Given the description of an element on the screen output the (x, y) to click on. 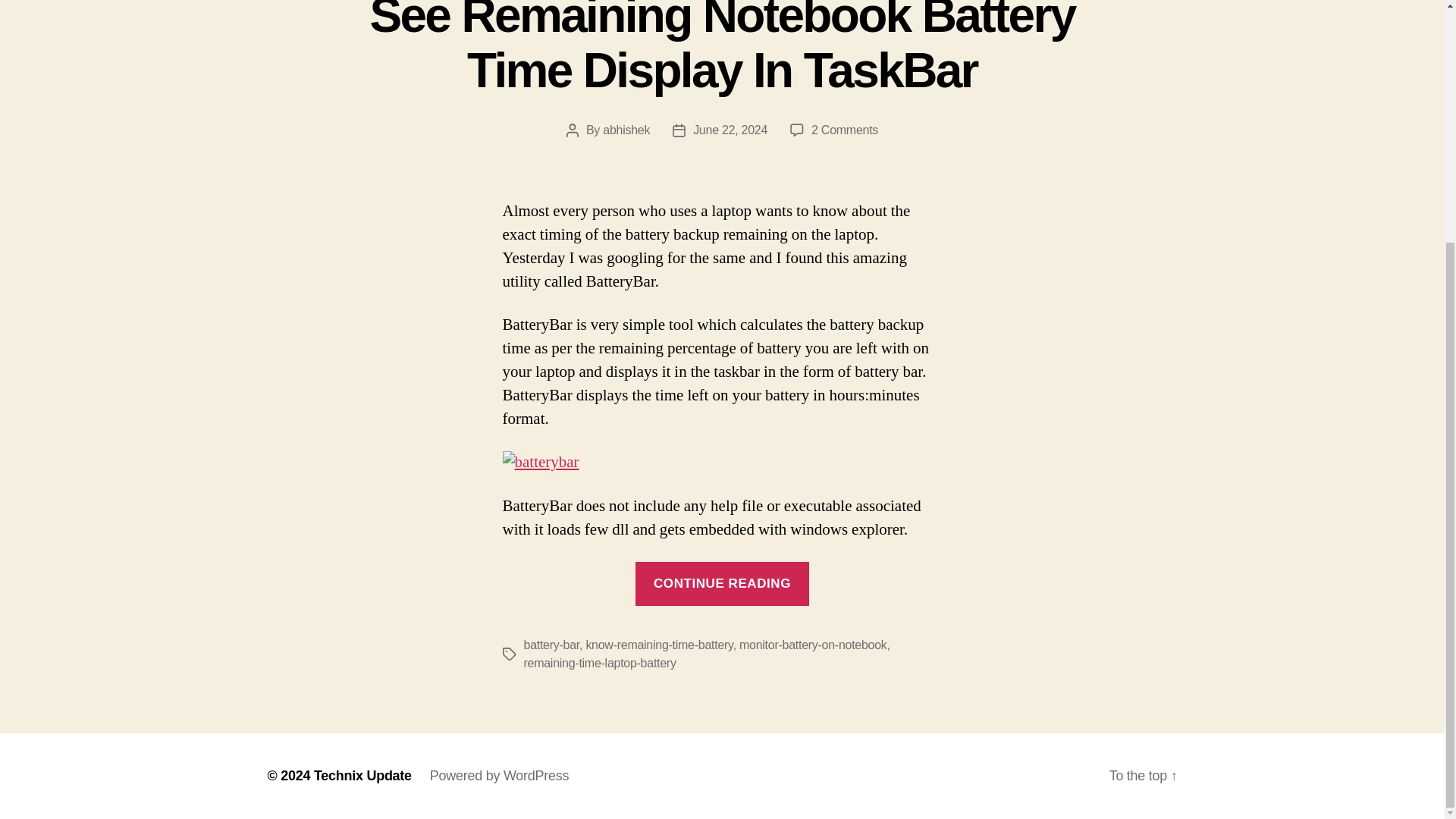
June 22, 2024 (730, 129)
monitor-battery-on-notebook (812, 644)
See Remaining Notebook Battery Time Display In TaskBar (721, 48)
remaining-time-laptop-battery (598, 662)
know-remaining-time-battery (658, 644)
batterybar (540, 463)
battery-bar (550, 644)
Powered by WordPress (499, 775)
abhishek (625, 129)
Technix Update (363, 775)
